Given the description of an element on the screen output the (x, y) to click on. 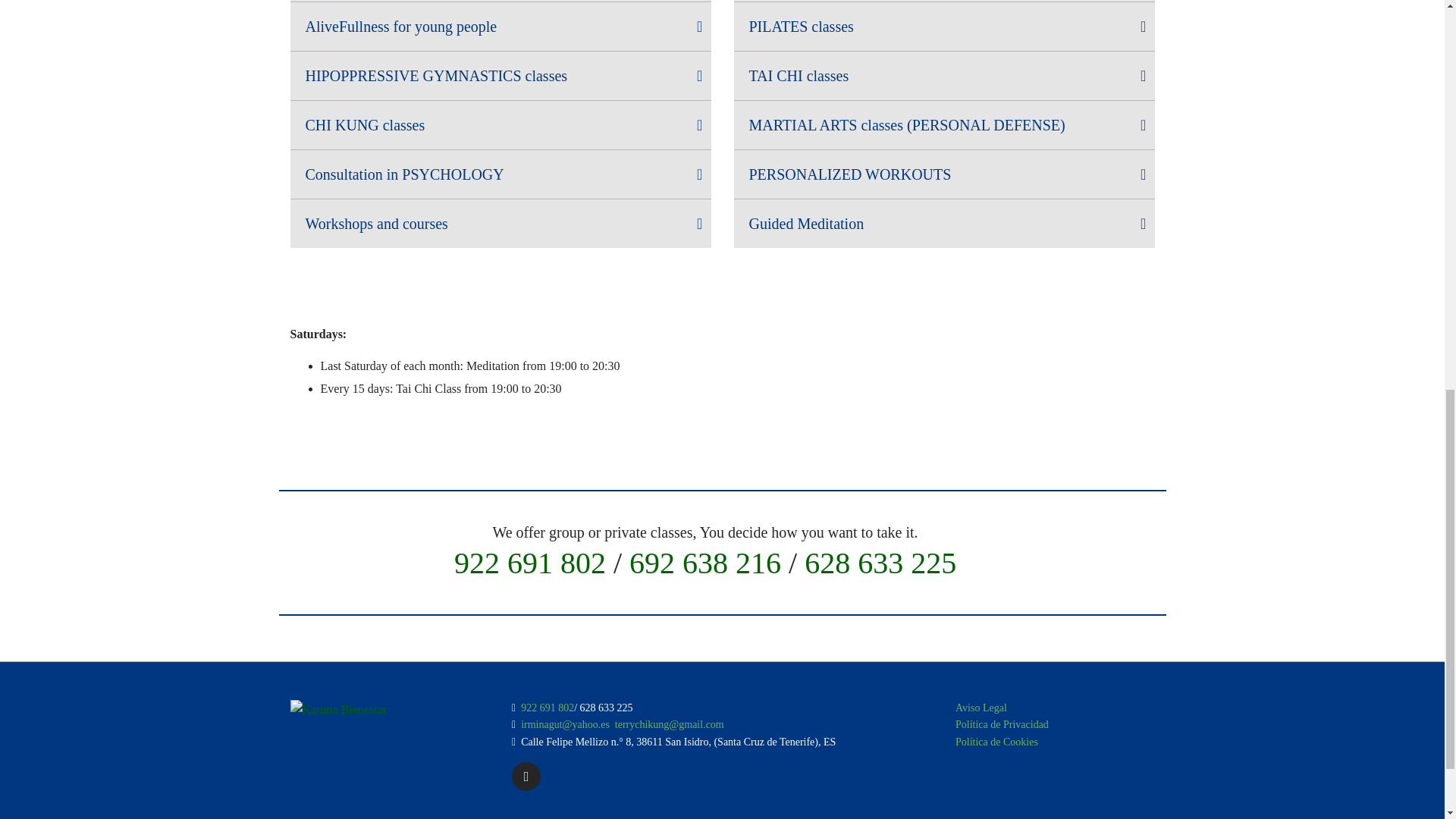
922 691 802 (547, 707)
922 691 802 (529, 562)
692 638 216 (704, 562)
Aviso Legal (981, 707)
628 633 225 (880, 562)
